Given the description of an element on the screen output the (x, y) to click on. 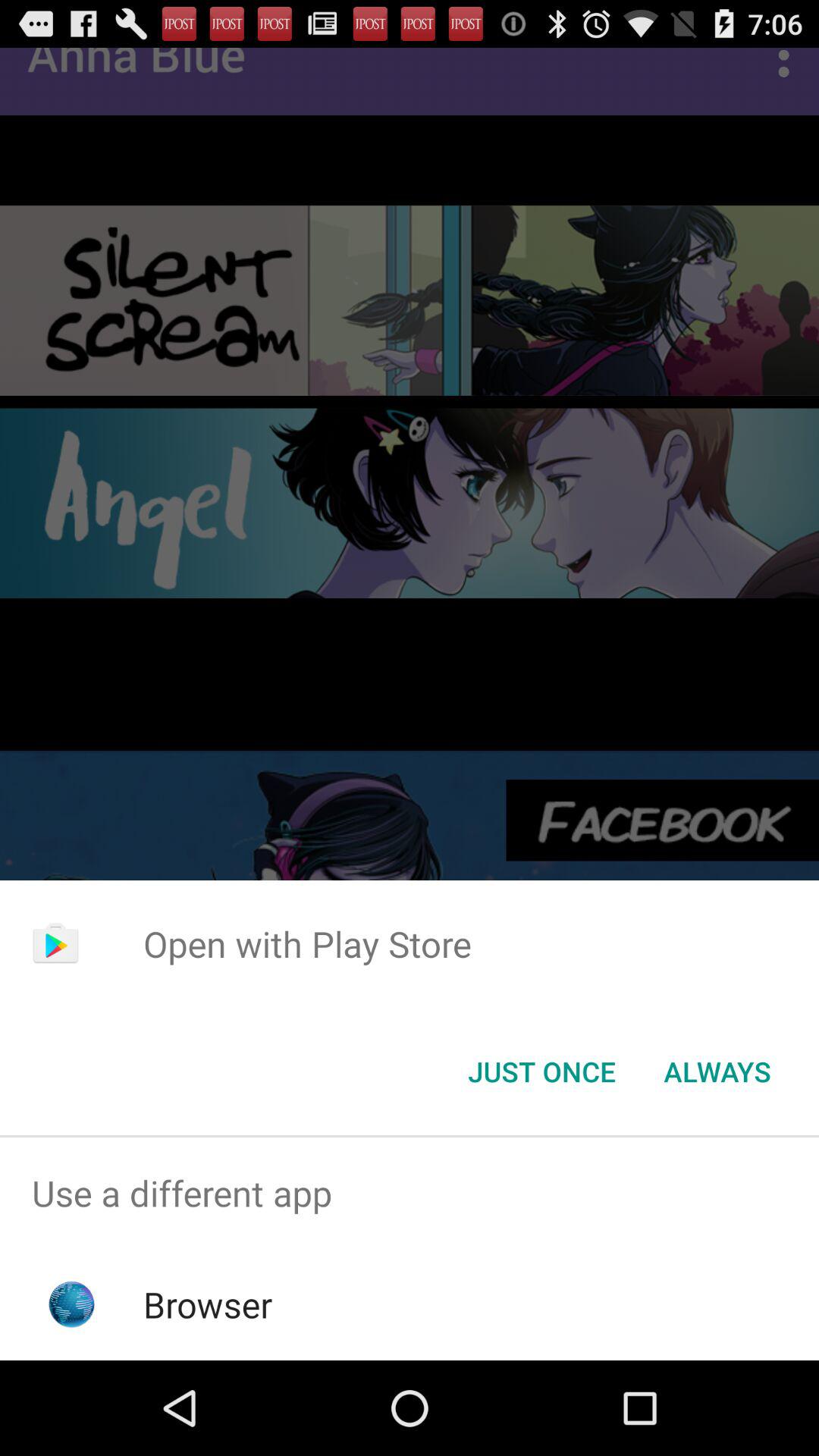
swipe to always icon (717, 1071)
